Given the description of an element on the screen output the (x, y) to click on. 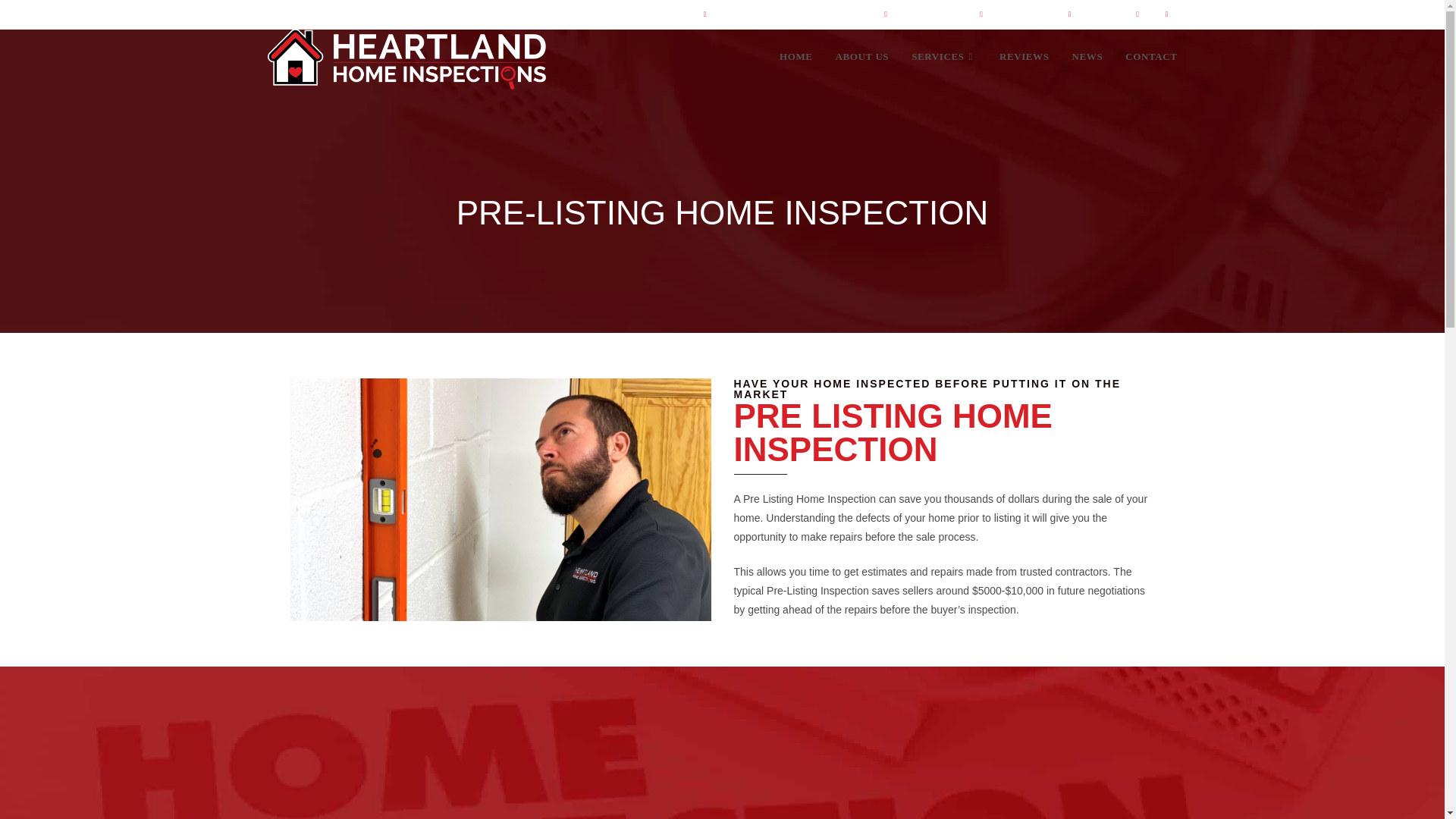
Washington, NJ (917, 13)
ABOUT US (862, 56)
HOME (796, 56)
REVIEWS (1024, 56)
CONTACT (1150, 56)
NEWS (1088, 56)
SERVICES (943, 56)
Proud Habitat For Humanity Sponsor (777, 13)
Email Us (1101, 13)
